Given the description of an element on the screen output the (x, y) to click on. 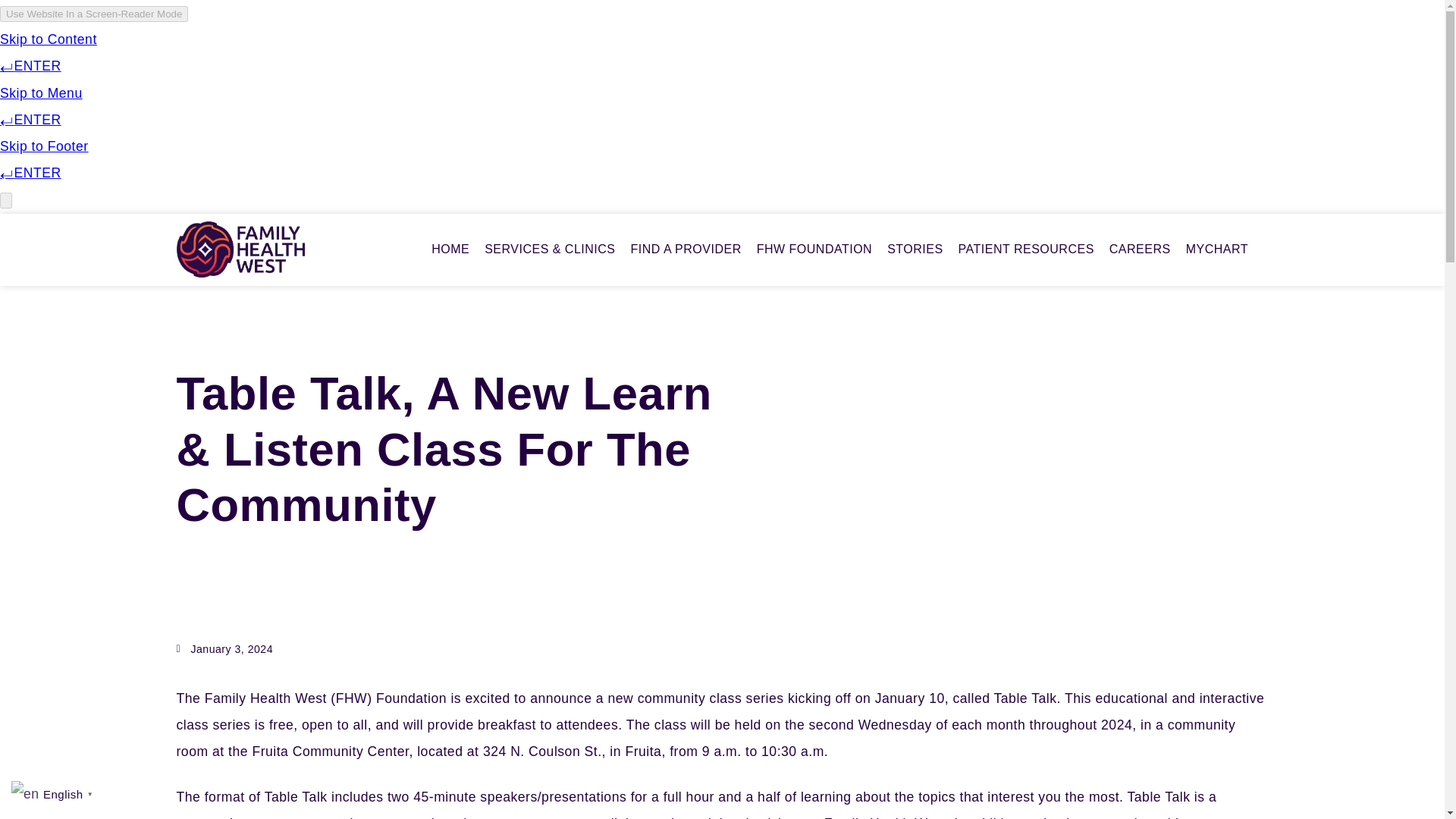
STORIES (914, 248)
HOME (450, 248)
FHW FOUNDATION (814, 248)
MYCHART (1216, 248)
CAREERS (1139, 248)
PATIENT RESOURCES (1026, 248)
FIND A PROVIDER (685, 248)
FHW Primary Logo Full Color On White (240, 249)
